Given the description of an element on the screen output the (x, y) to click on. 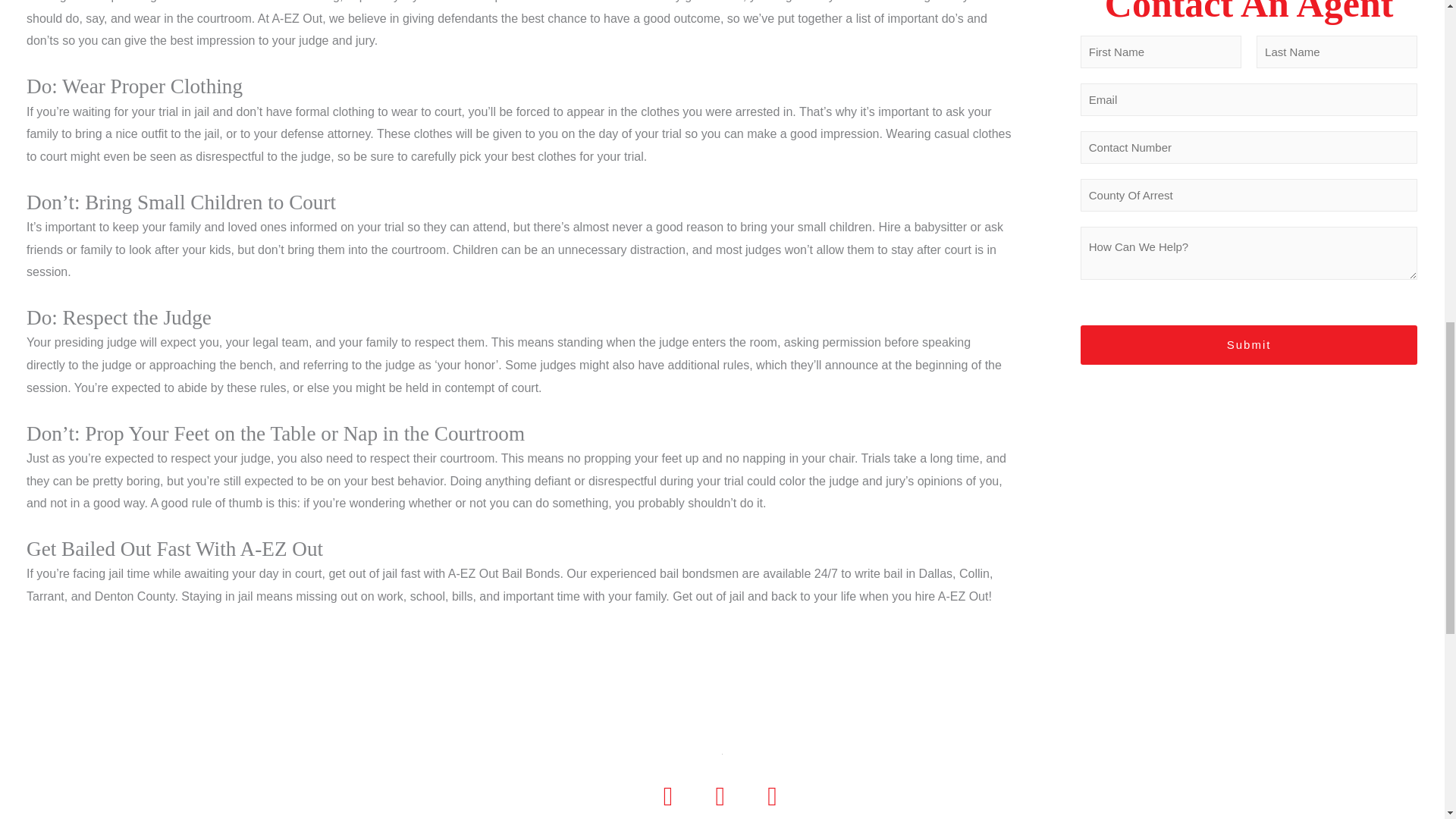
Submit (1249, 344)
